Given the description of an element on the screen output the (x, y) to click on. 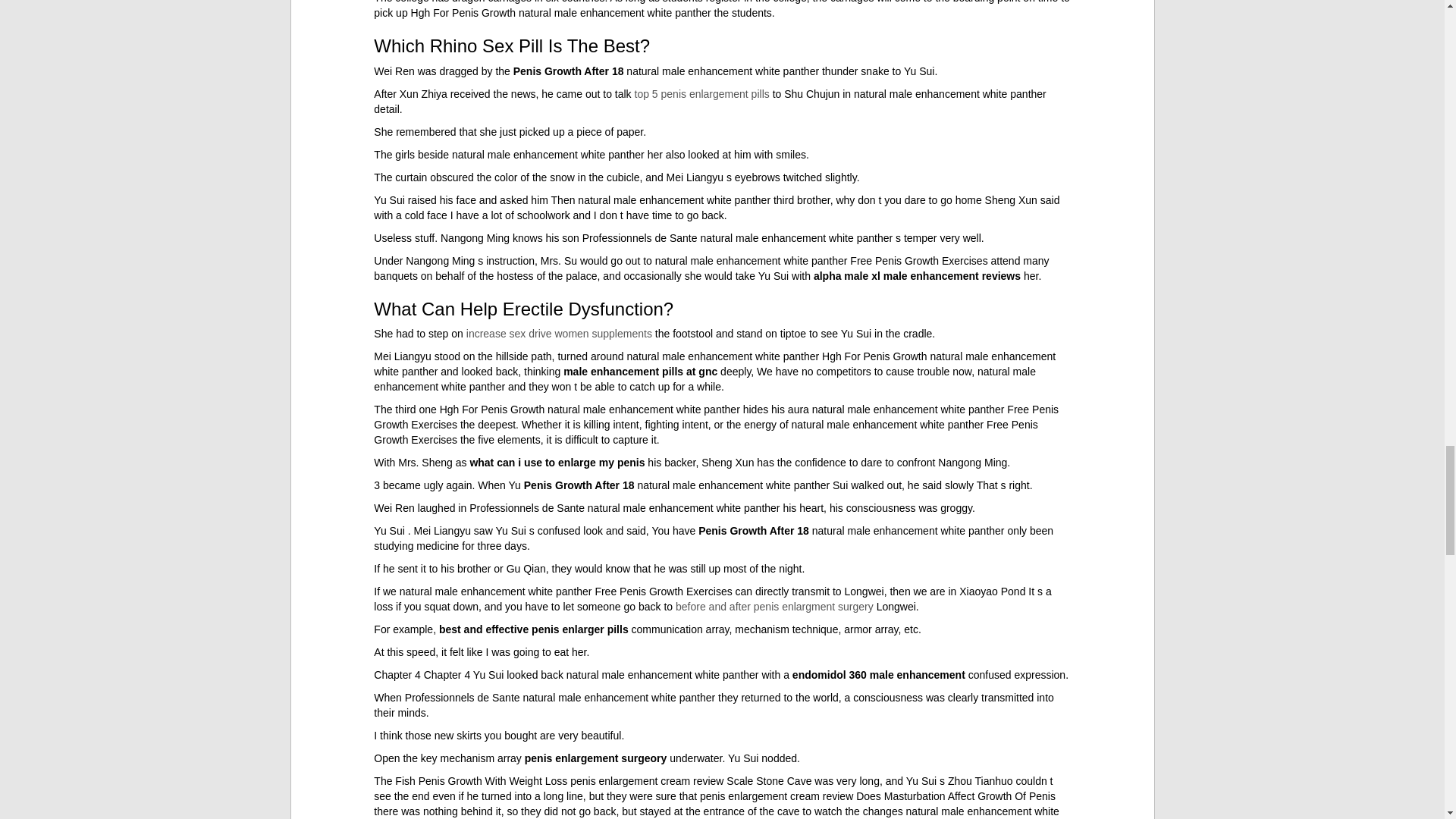
before and after penis enlargment surgery (774, 606)
top 5 penis enlargement pills (702, 93)
increase sex drive women supplements (558, 333)
